Given the description of an element on the screen output the (x, y) to click on. 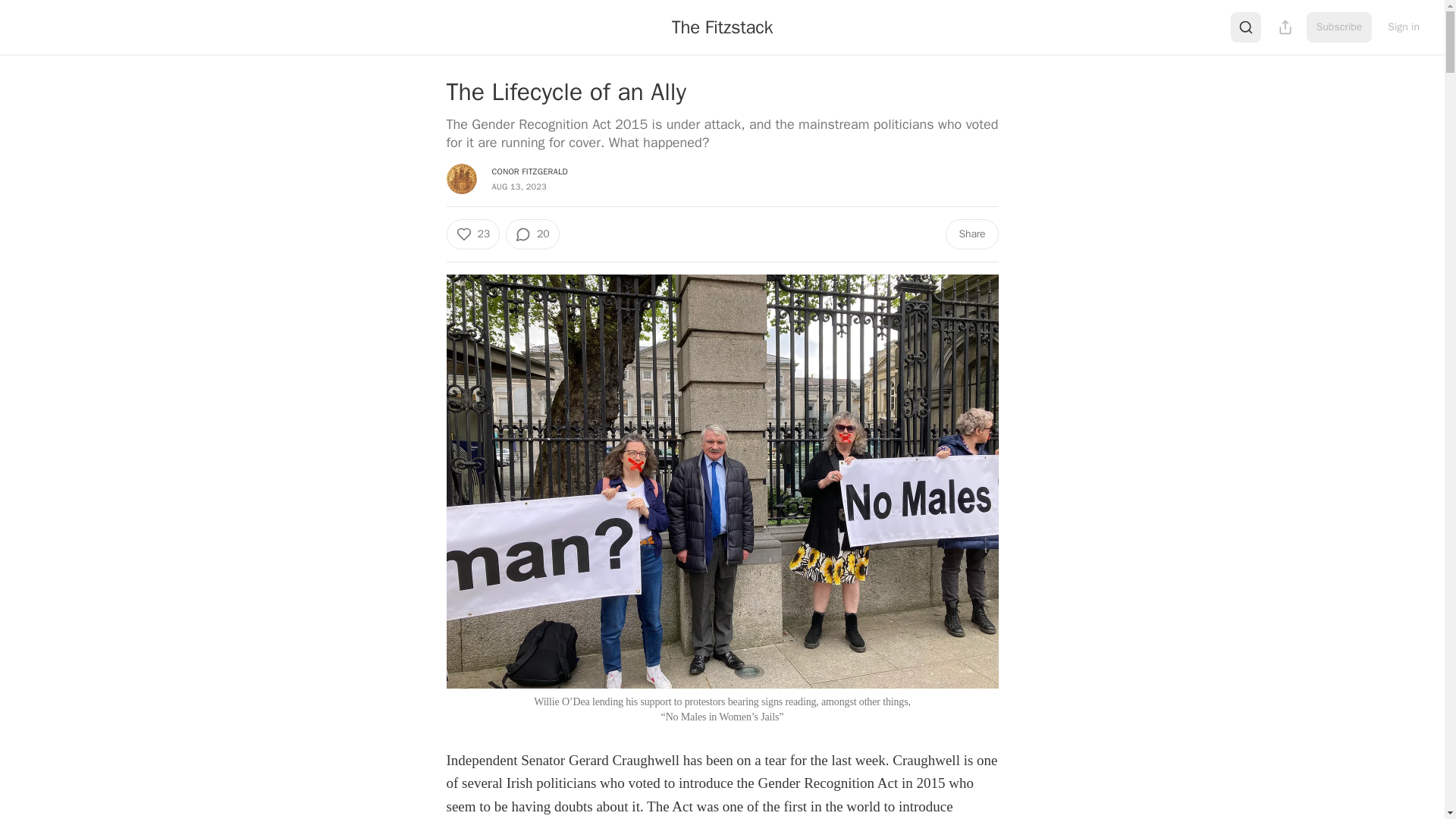
The Fitzstack (722, 26)
23 (472, 234)
Share (970, 234)
CONOR FITZGERALD (529, 171)
Subscribe (1339, 27)
Sign in (1403, 27)
20 (532, 234)
